Given the description of an element on the screen output the (x, y) to click on. 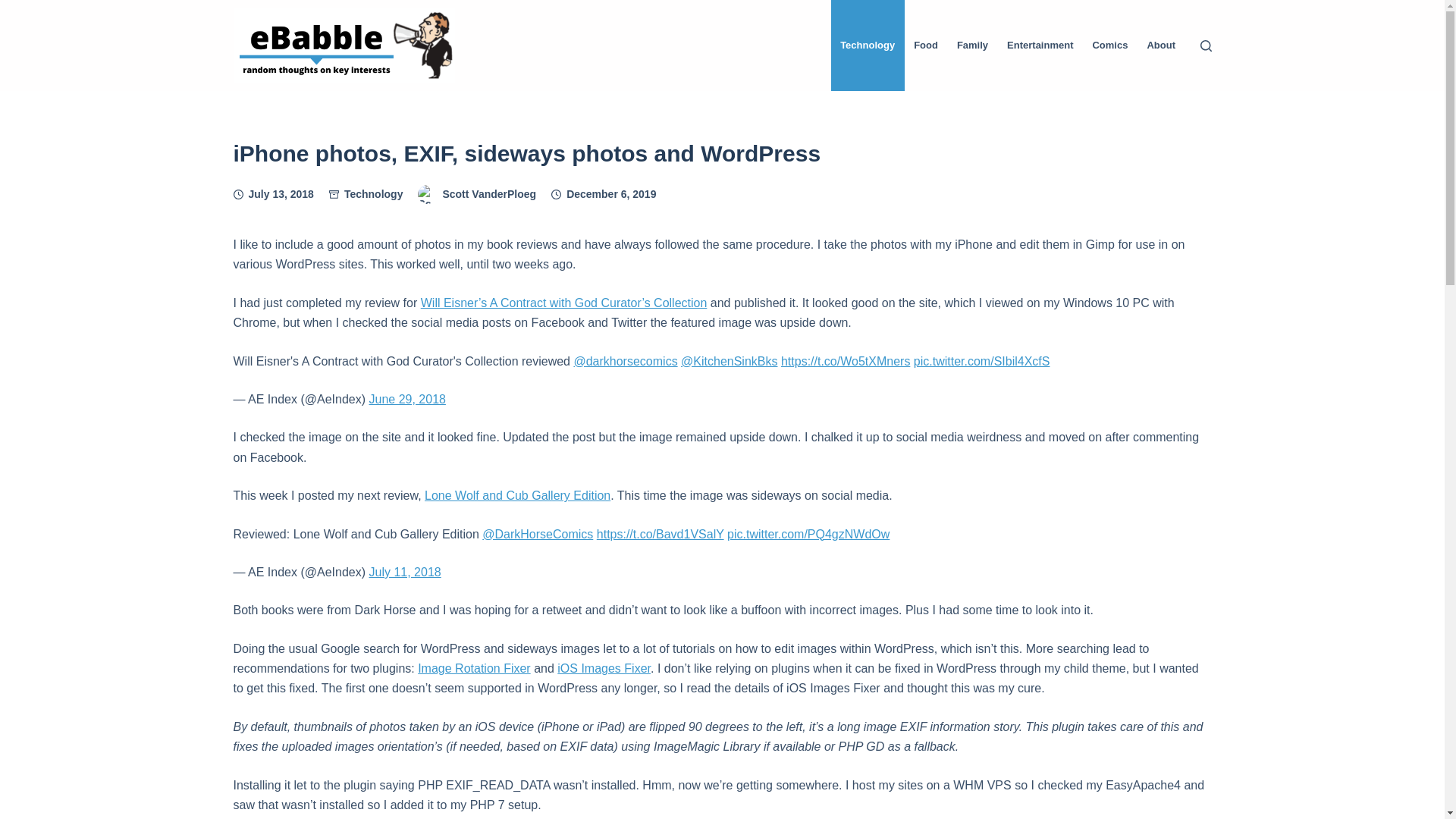
Lone Wolf and Cub Gallery Edition (517, 495)
Image Rotation Fixer (474, 667)
Technology (373, 193)
June 29, 2018 (406, 399)
July 11, 2018 (404, 571)
Scott VanderPloeg (488, 193)
Skip to content (15, 7)
Entertainment (1040, 45)
iOS Images Fixer (603, 667)
iPhone photos, EXIF, sideways photos and WordPress (721, 153)
